Given the description of an element on the screen output the (x, y) to click on. 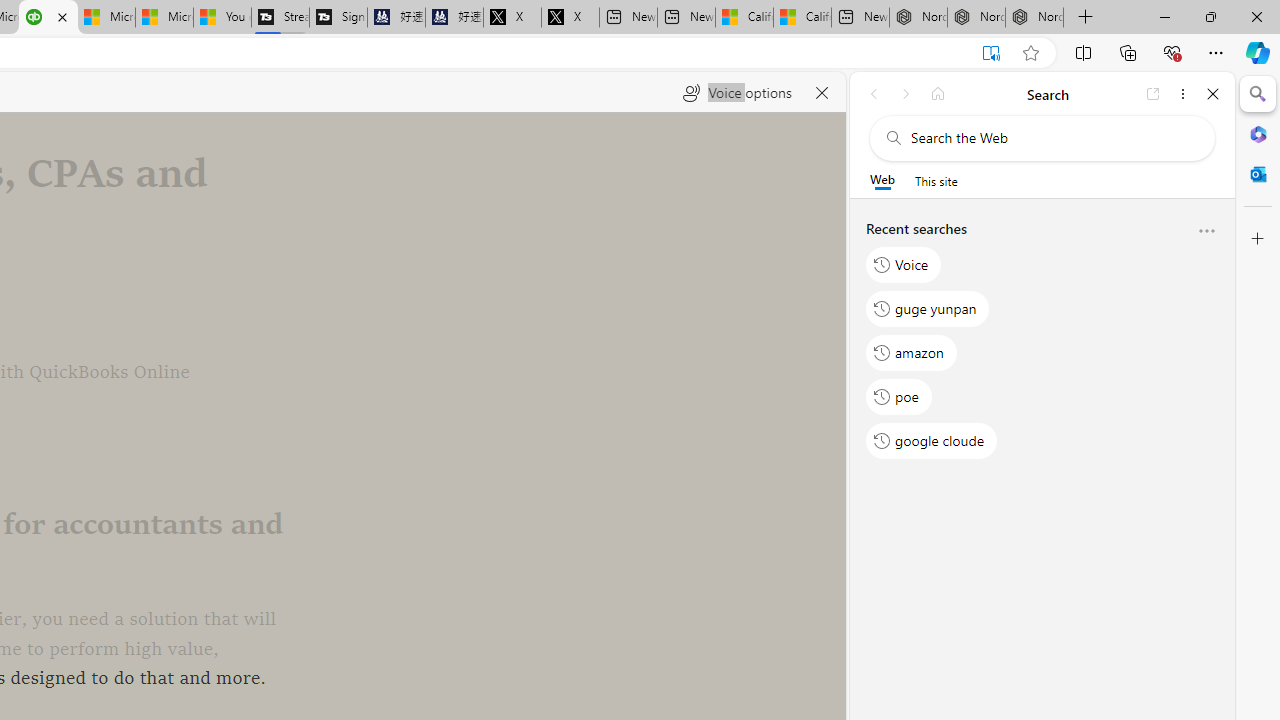
Open link in new tab (1153, 93)
google cloude (931, 441)
Nordace - Siena Pro 15 Essential Set (1034, 17)
Close read aloud (821, 92)
Voice options (737, 92)
Forward (906, 93)
